Given the description of an element on the screen output the (x, y) to click on. 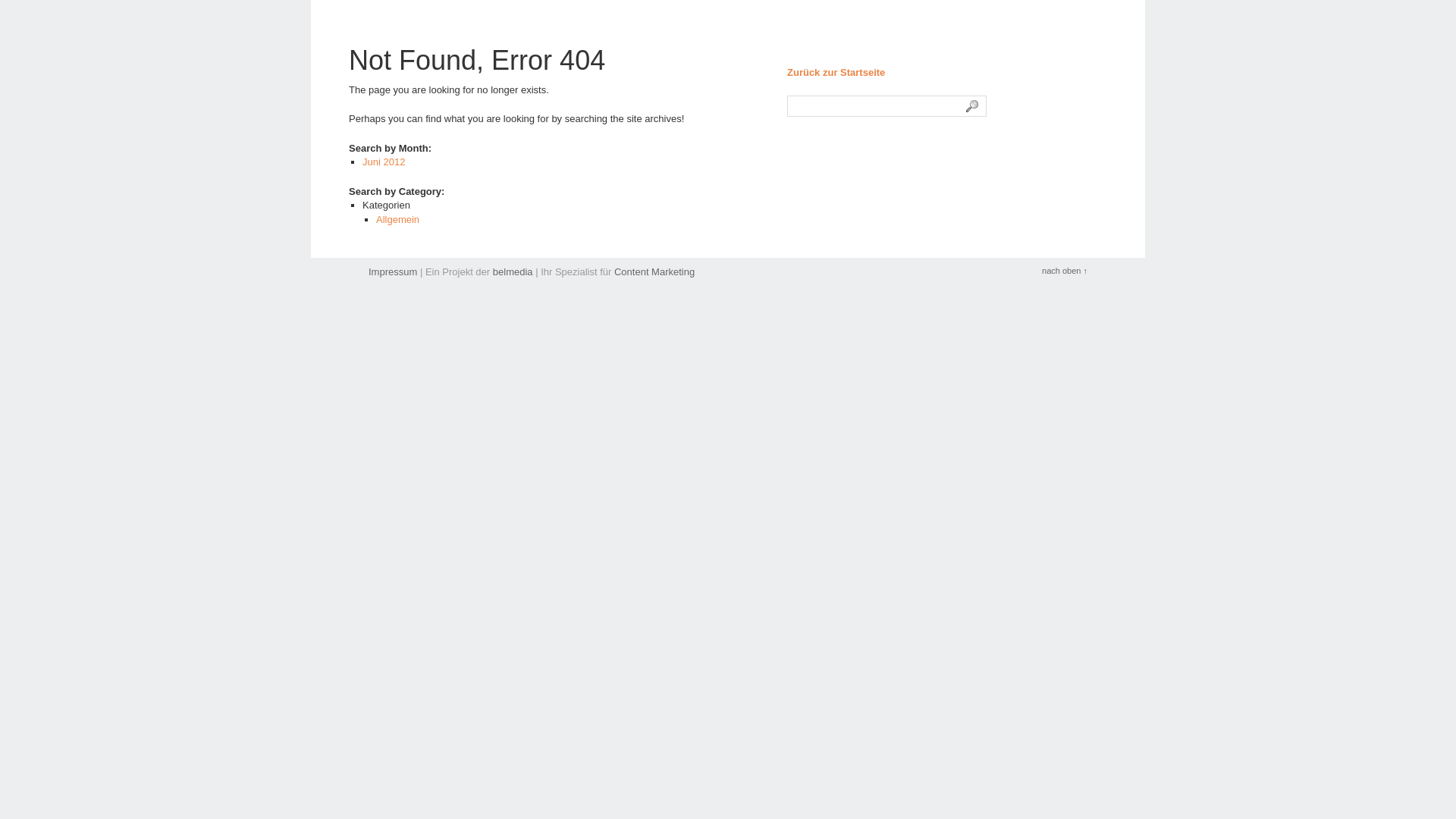
Impressum Element type: text (392, 271)
Juni 2012 Element type: text (383, 161)
Allgemein Element type: text (397, 219)
belmedia Element type: text (512, 271)
Content Marketing Element type: text (654, 271)
